Given the description of an element on the screen output the (x, y) to click on. 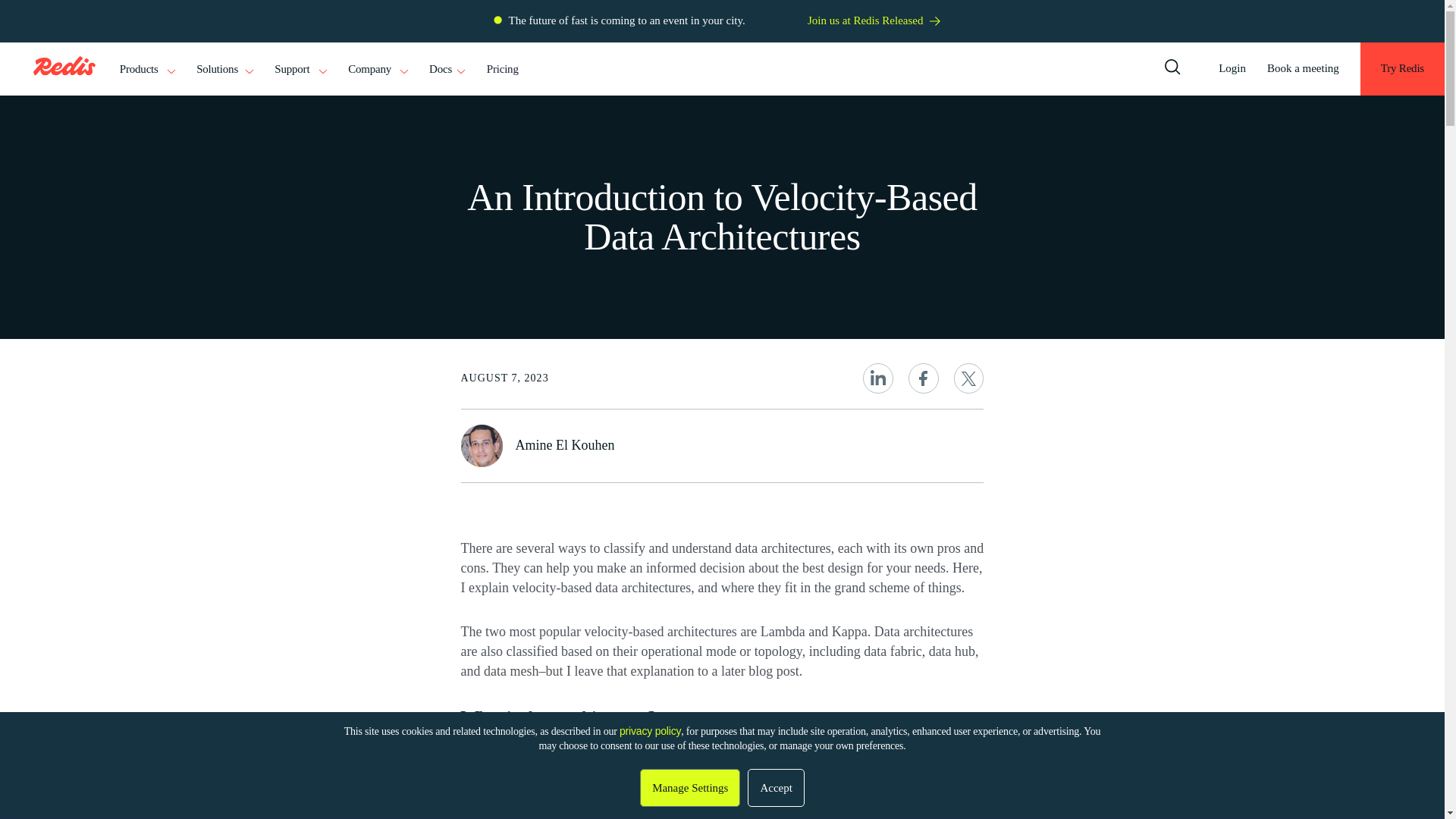
Solutions (224, 69)
Pricing (502, 69)
Docs (447, 69)
Products (146, 69)
Support (300, 69)
Amine El Kouhen (564, 444)
Company (377, 69)
